Given the description of an element on the screen output the (x, y) to click on. 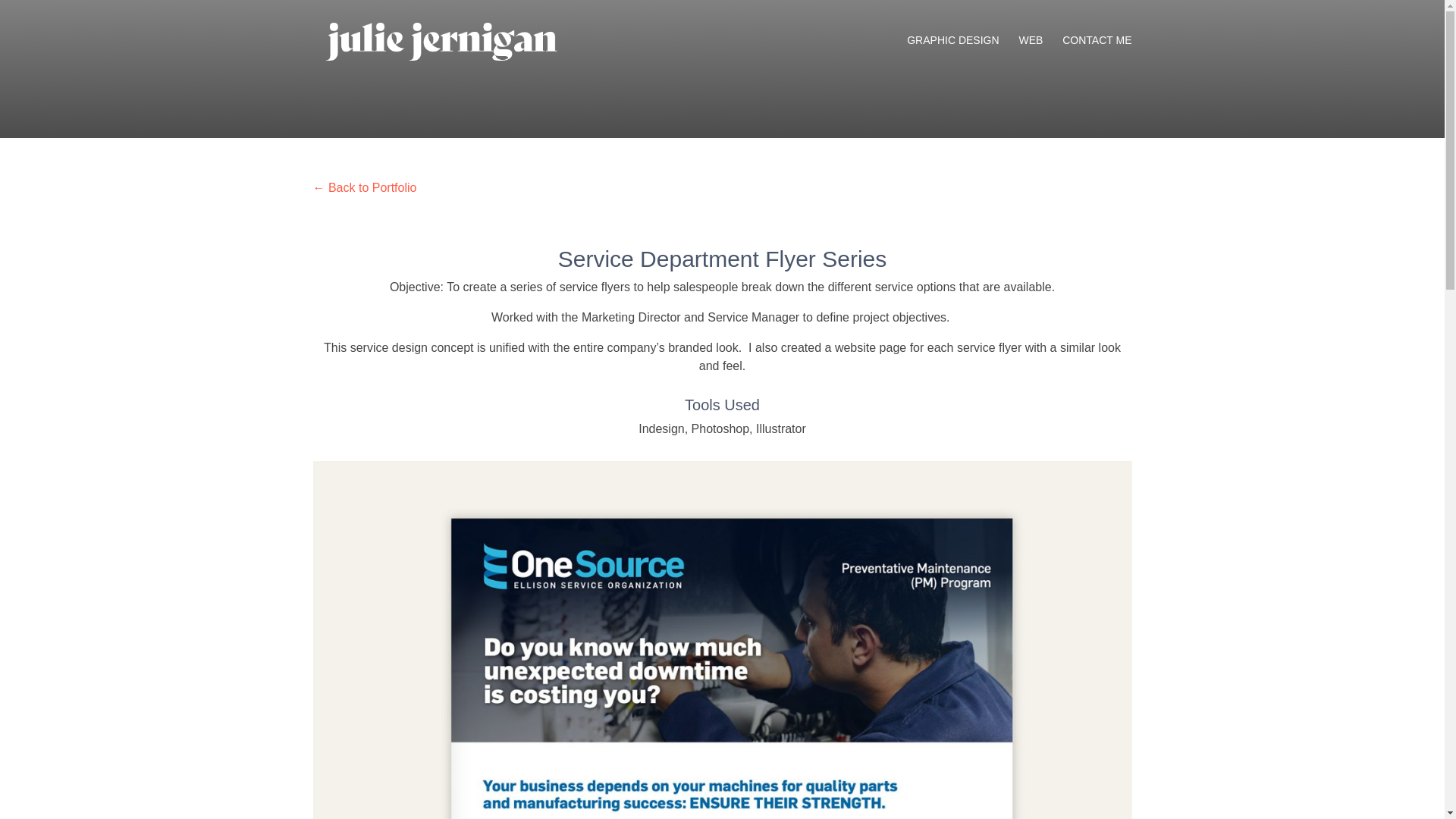
CONTACT ME (1096, 57)
GRAPHIC DESIGN (952, 57)
